Given the description of an element on the screen output the (x, y) to click on. 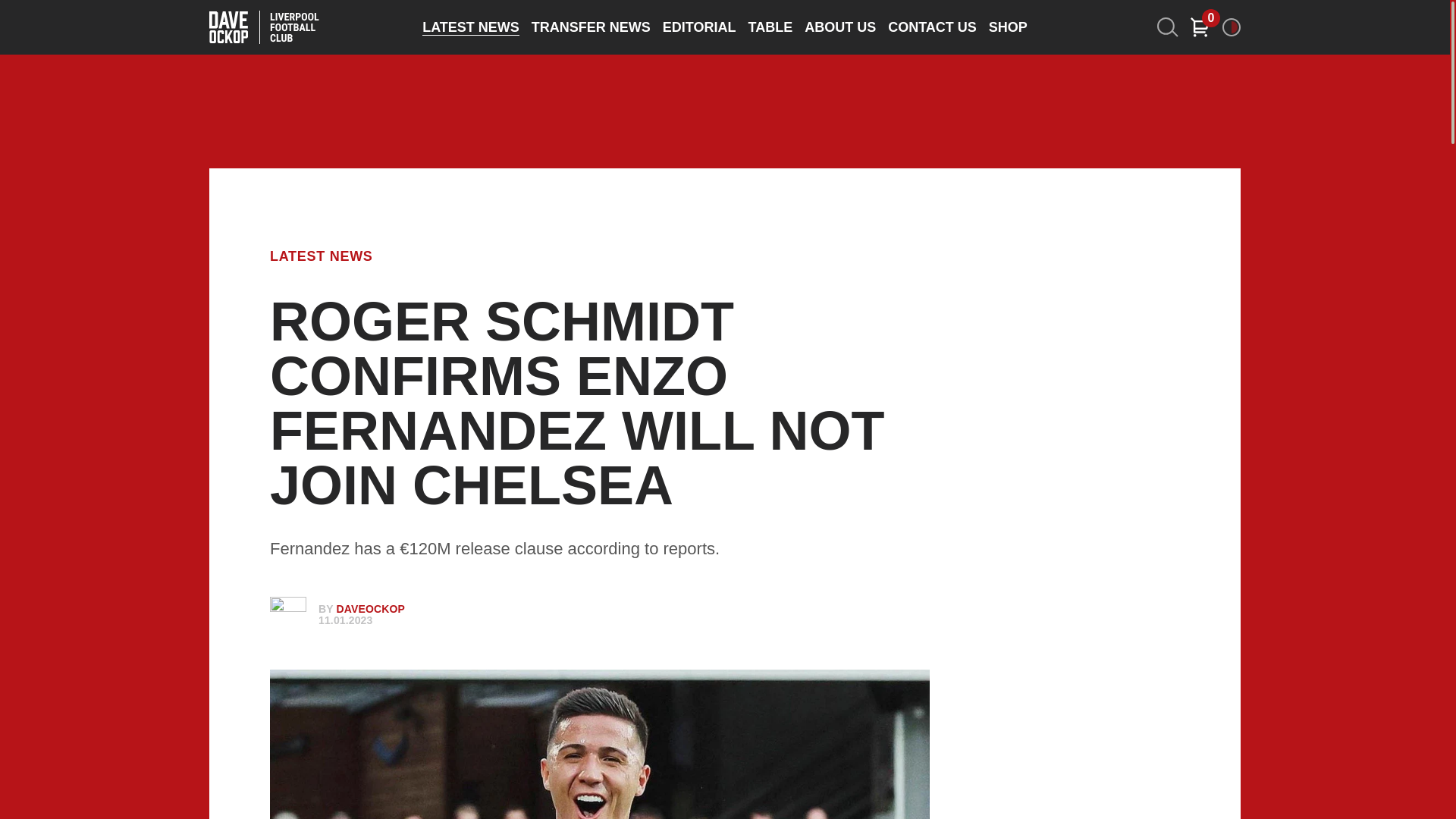
LATEST NEWS (320, 255)
ABOUT US (840, 27)
LATEST NEWS (470, 27)
LIGHT MODE (1231, 27)
0 ITEMS (1200, 26)
DAVEOCKOP (370, 608)
TABLE (770, 27)
SHOP (1007, 27)
EDITORIAL (699, 27)
Start shopping (1200, 26)
